Given the description of an element on the screen output the (x, y) to click on. 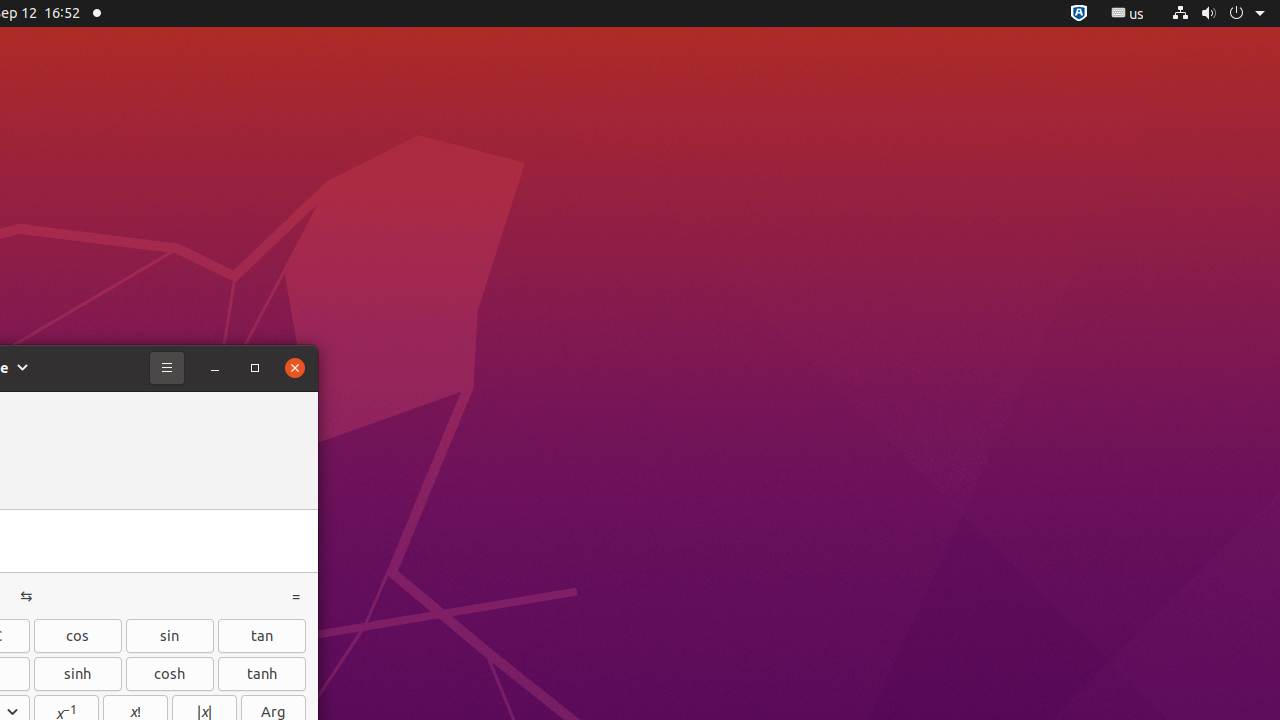
tanh Element type: push-button (262, 674)
Minimize Element type: push-button (215, 368)
cosh Element type: push-button (170, 674)
cos Element type: push-button (78, 636)
Maximize Element type: push-button (255, 368)
